Given the description of an element on the screen output the (x, y) to click on. 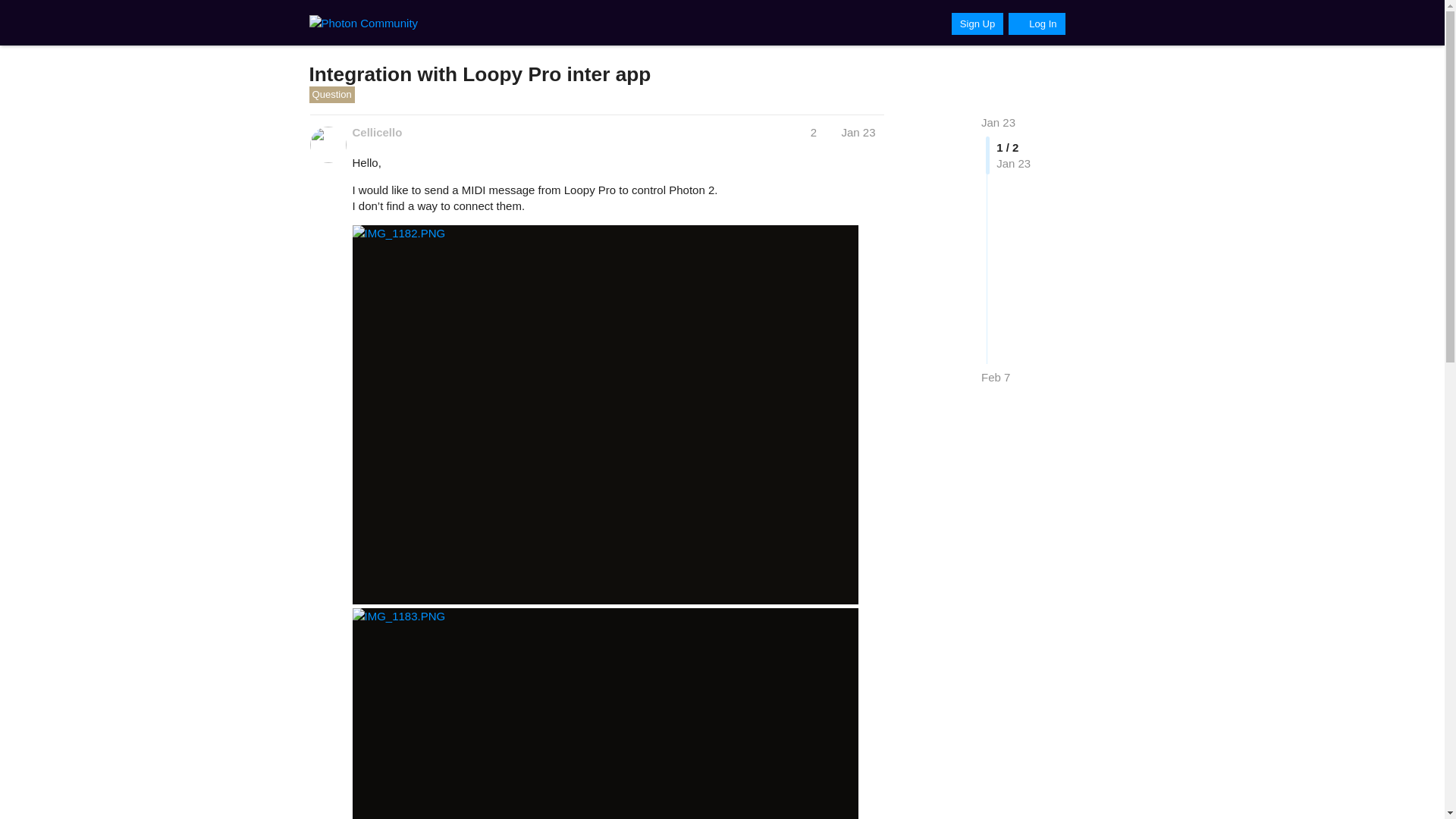
Feb 7, 2024 8:54 pm (995, 377)
Cellicello (376, 132)
Feb 7 (995, 376)
Ask your questions or answer others in the Question section. (332, 94)
Jan 23 (997, 122)
Search (1086, 22)
Question (331, 94)
Jan 23 (997, 122)
2 (820, 132)
menu (1119, 22)
Integration with Loopy Pro inter app (479, 74)
post last edited on Jan 23, 2024 11:50 am (820, 132)
Jan 23 (858, 132)
Sign Up (977, 24)
Log In (1036, 24)
